Given the description of an element on the screen output the (x, y) to click on. 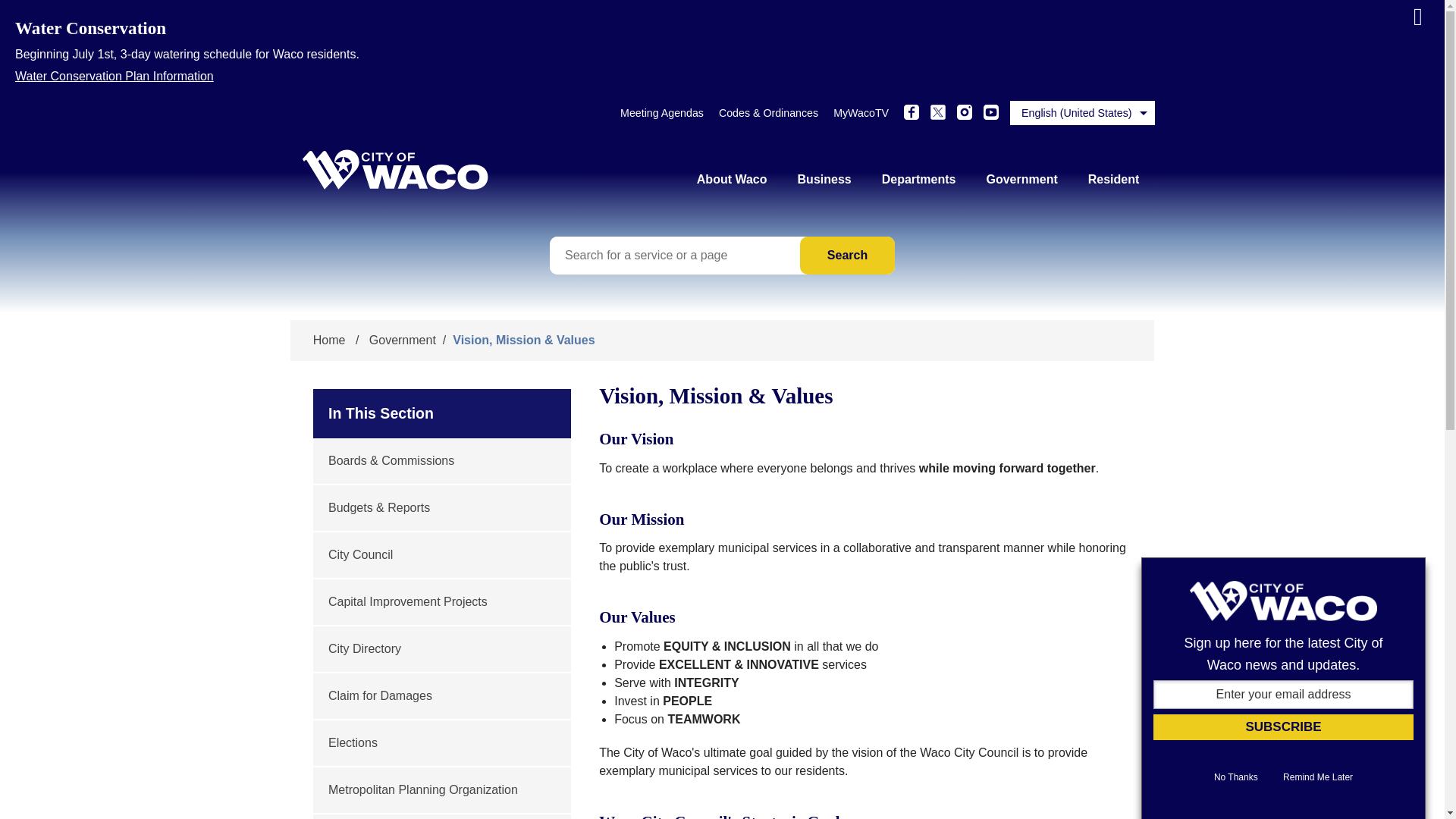
Search (847, 255)
City of Waco - Home - Logo (394, 169)
Twitter (937, 112)
About Waco (732, 179)
Instagram (964, 112)
Meeting Agendas (661, 112)
Search (847, 255)
Enter your email address (1283, 694)
Facebook (911, 112)
MyWacoTV (860, 112)
YouTube (991, 112)
Water Conservation Plan Information (721, 74)
Subscribe (1283, 727)
